Given the description of an element on the screen output the (x, y) to click on. 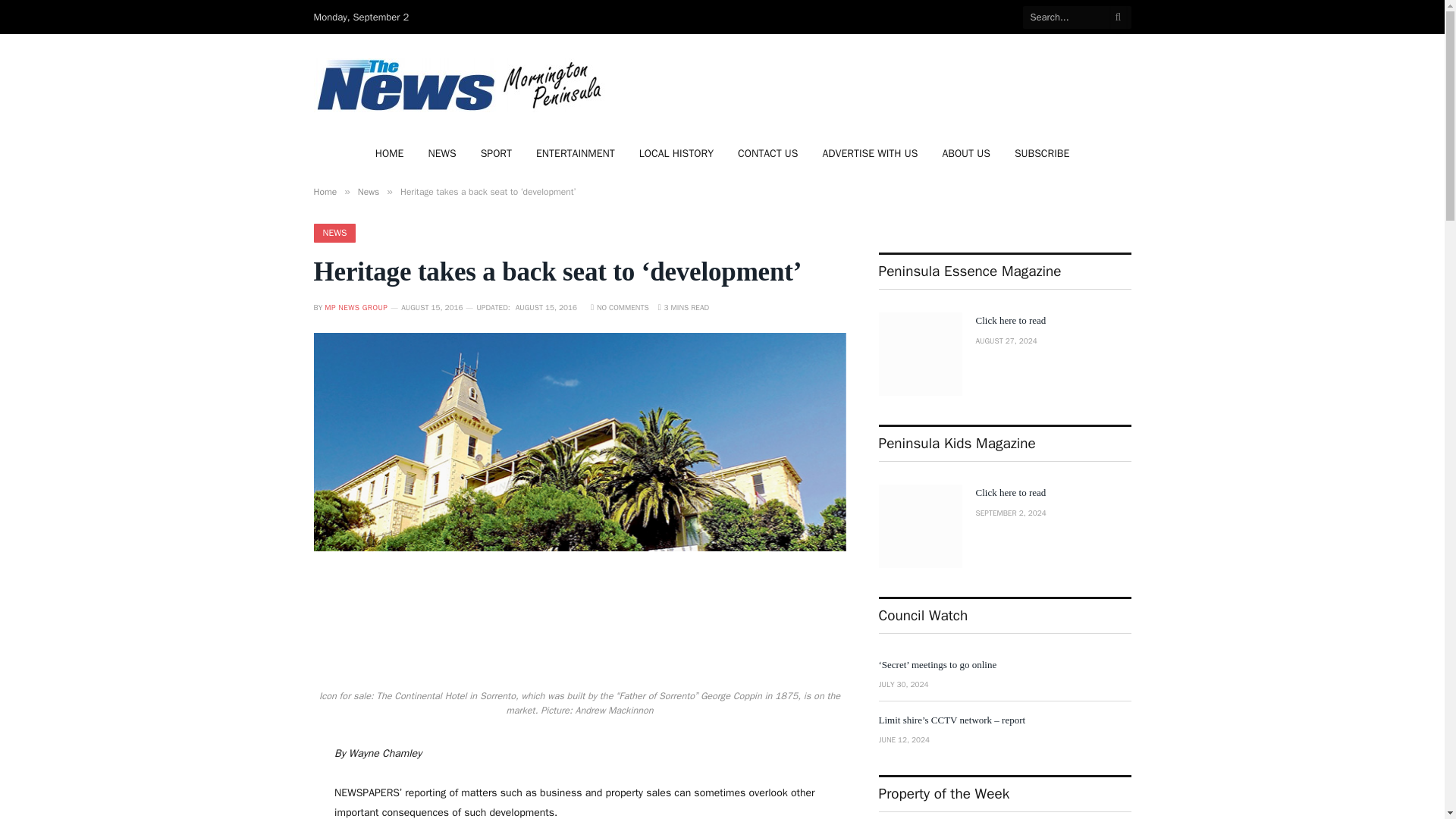
MPNEWS (462, 84)
HOME (389, 153)
SPORT (496, 153)
NEWS (335, 232)
Posts by MP News Group (355, 307)
ADVERTISE WITH US (869, 153)
NEWS (440, 153)
CONTACT US (767, 153)
LOCAL HISTORY (676, 153)
ENTERTAINMENT (575, 153)
